Given the description of an element on the screen output the (x, y) to click on. 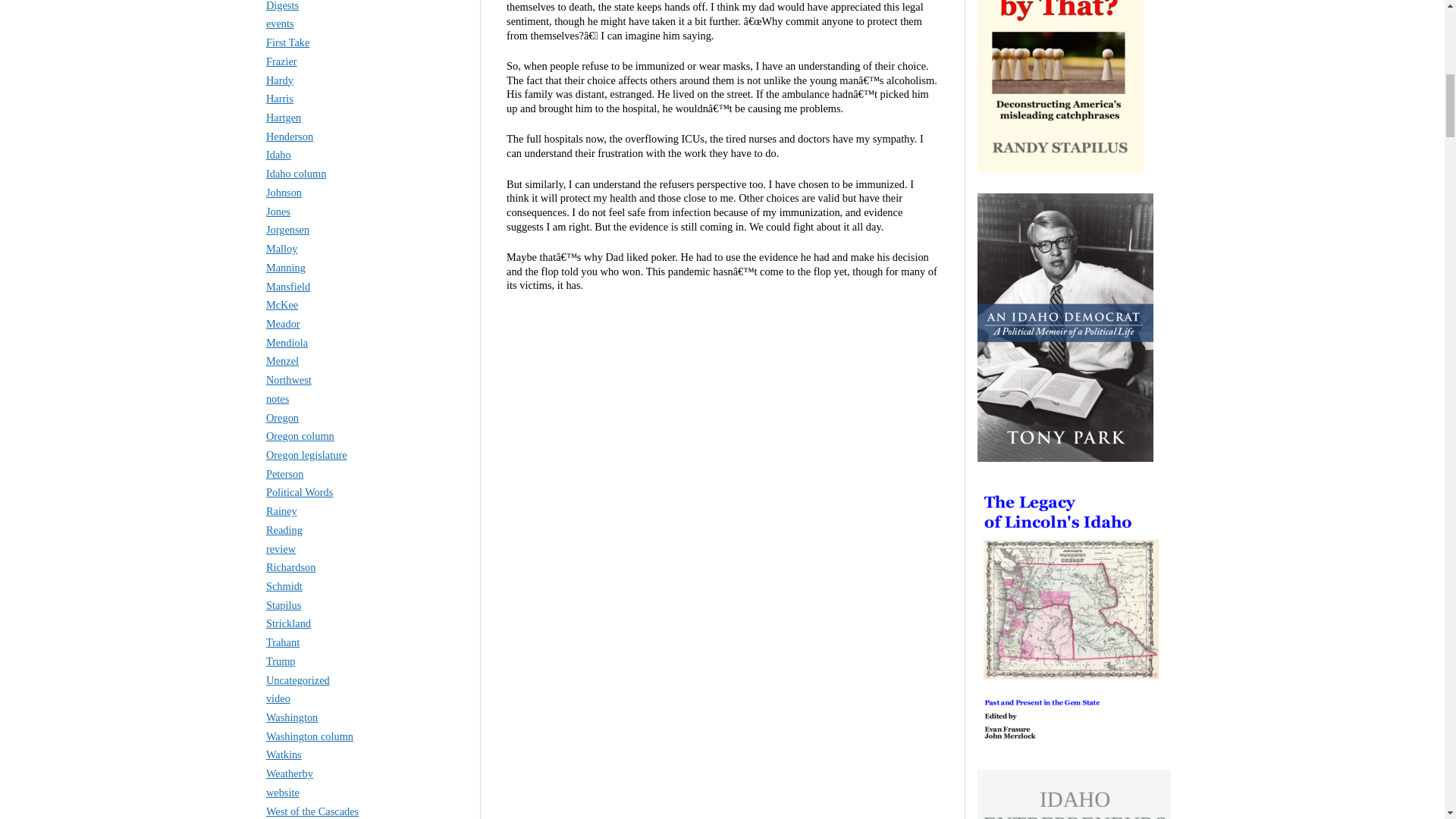
Idaho column (296, 173)
events (280, 23)
First Take (288, 42)
Malloy (282, 248)
Idaho (278, 154)
Frazier (281, 61)
Harris (280, 98)
Jorgensen (287, 229)
Digests (282, 5)
Manning (285, 267)
